Given the description of an element on the screen output the (x, y) to click on. 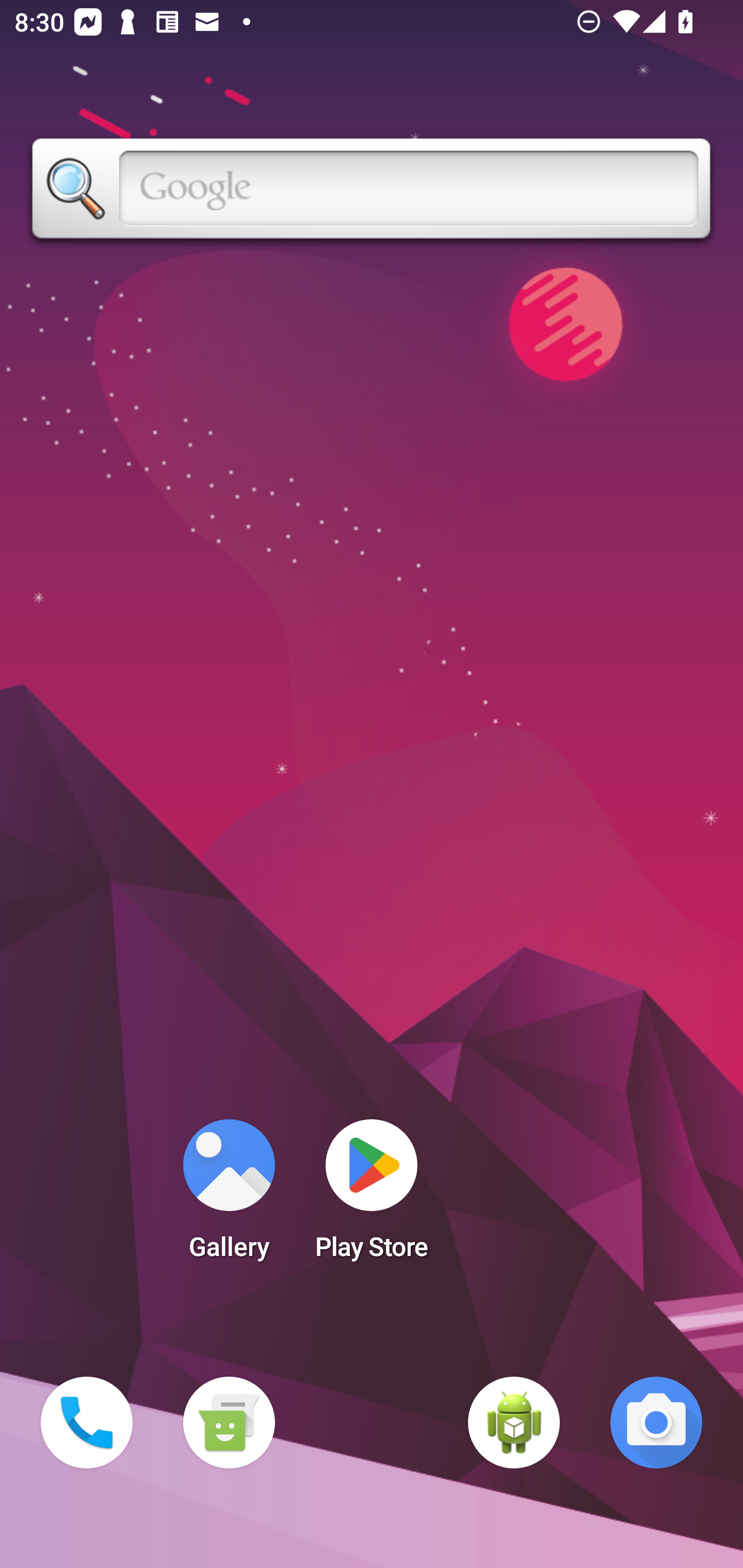
Gallery (228, 1195)
Play Store (371, 1195)
Phone (86, 1422)
Messaging (228, 1422)
WebView Browser Tester (513, 1422)
Camera (656, 1422)
